Given the description of an element on the screen output the (x, y) to click on. 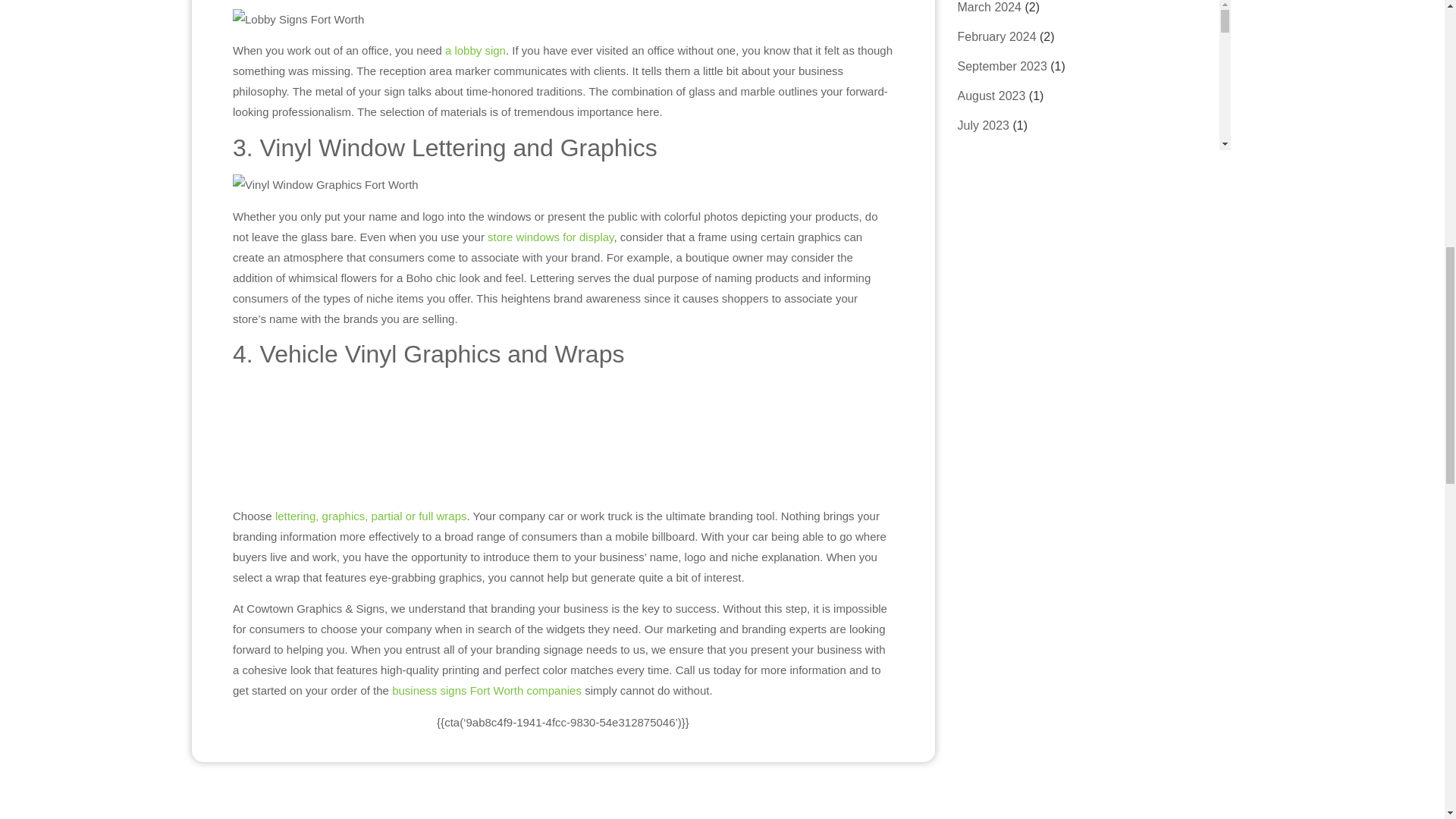
August 2023 (1001, 95)
August 2022 (993, 273)
March 2023 (994, 183)
store windows for display (549, 236)
May 2022 (984, 360)
February 2024 (1011, 36)
March 2024 (1007, 6)
July 2023 (991, 124)
June 2022 (986, 332)
July 2022 (984, 301)
a lobby sign (475, 50)
lettering, graphics, partial or full wraps (371, 682)
September 2022 (1004, 242)
store windows for display (549, 416)
May 2023 (989, 154)
